Given the description of an element on the screen output the (x, y) to click on. 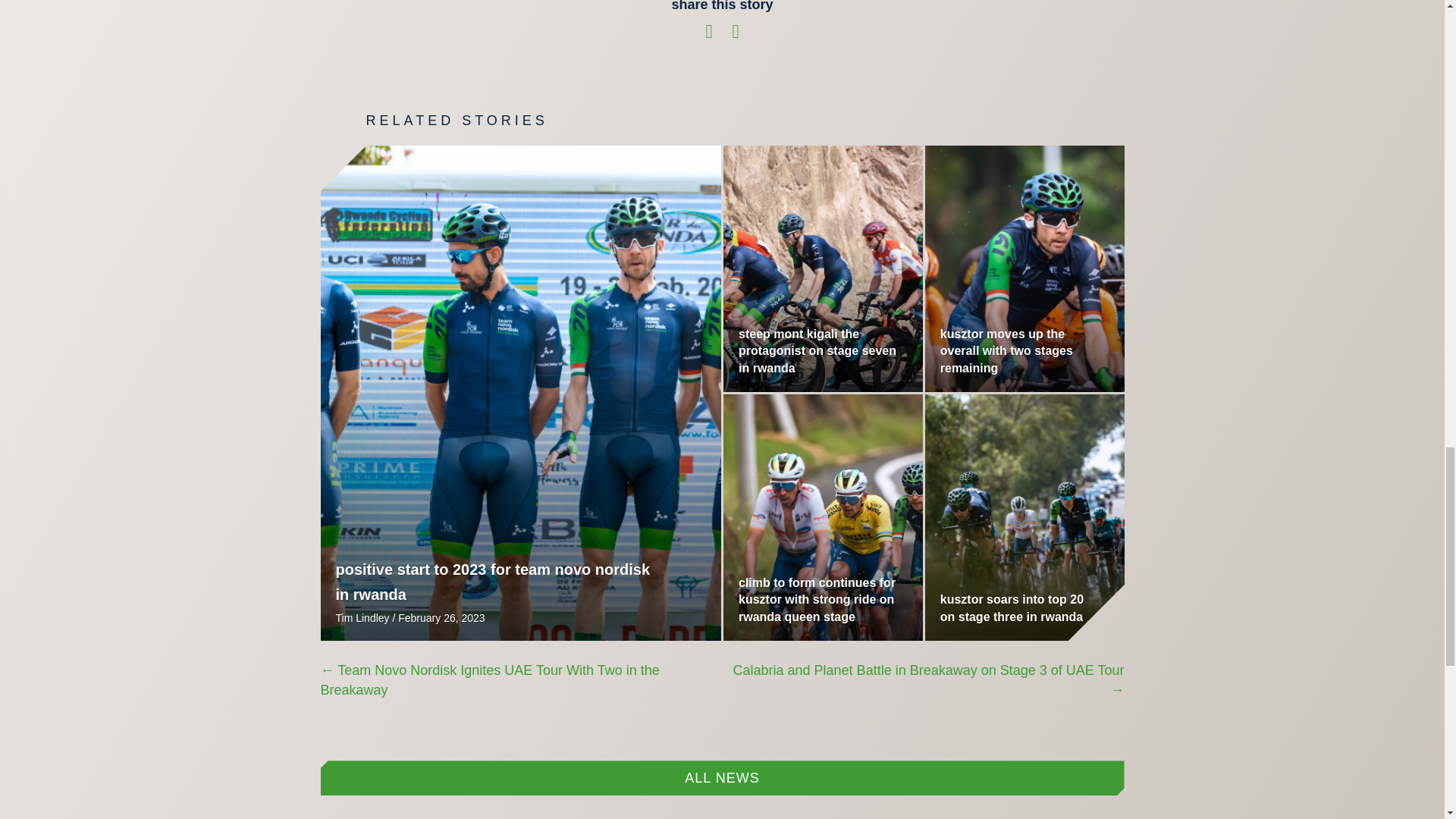
Steep Mont Kigali the protagonist on stage seven in Rwanda (817, 350)
steep mont kigali the protagonist on stage seven in rwanda (817, 350)
Tim Lindley (361, 617)
Kusztor moves up the overall with two stages remaining (1006, 350)
positive start to 2023 for team novo nordisk in rwanda (491, 582)
Positive start to 2023 for Team Novo Nordisk in Rwanda (491, 582)
